Given the description of an element on the screen output the (x, y) to click on. 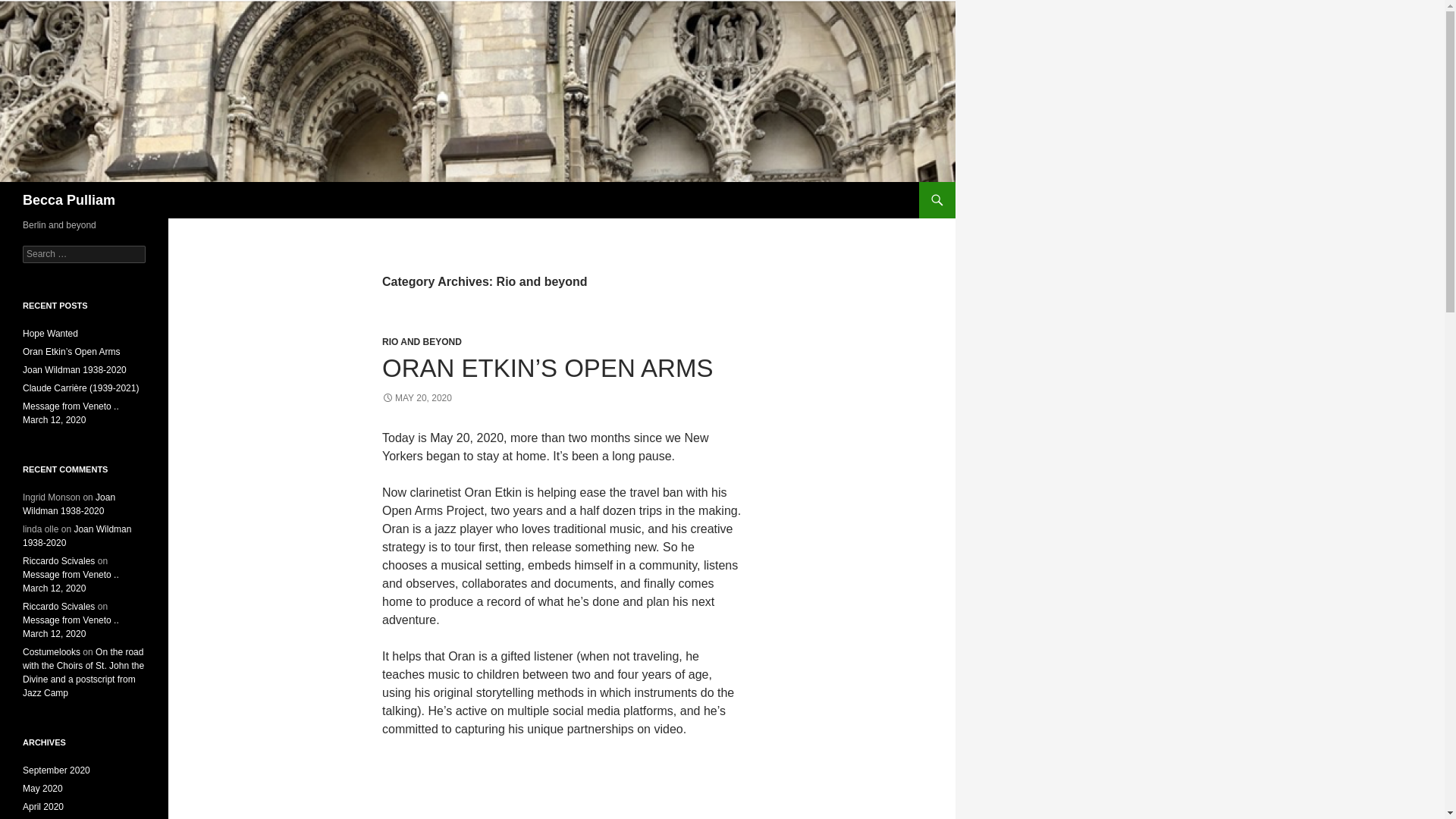
Search (30, 8)
Hope Wanted (50, 333)
Message from Veneto .. March 12, 2020 (71, 627)
Becca Pulliam (69, 199)
Joan Wildman 1938-2020 (69, 504)
RIO AND BEYOND (421, 341)
April 2020 (43, 806)
MAY 20, 2020 (416, 398)
